Given the description of an element on the screen output the (x, y) to click on. 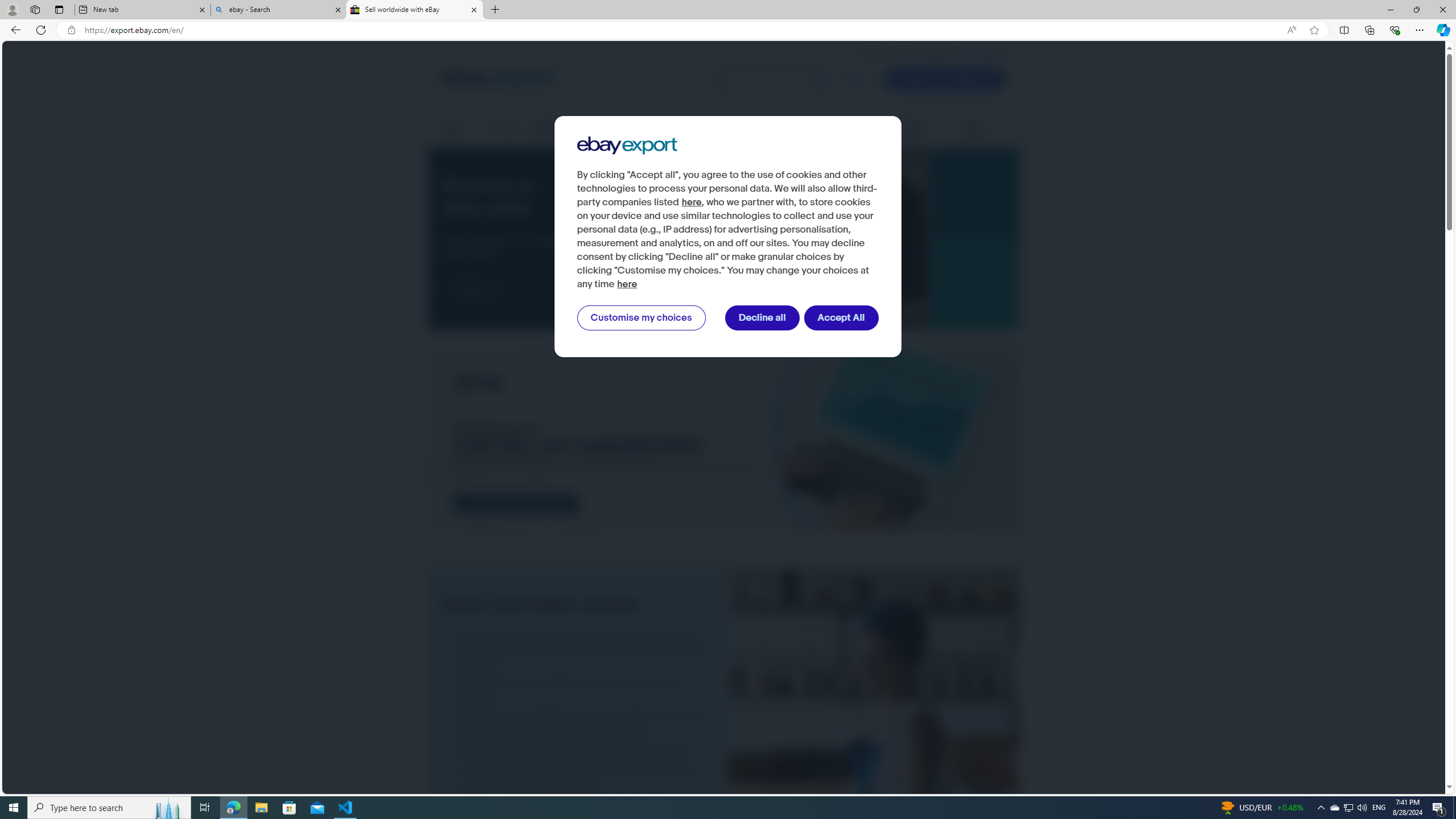
CBT Web Banner.jpeg (723, 439)
Class: search-input__btn (819, 79)
Class: search-input__icon (819, 79)
Say hello to the new desktop messaging experience (578, 751)
Fees, taxes & payments (714, 128)
New Tab (495, 9)
IN (967, 53)
Restore (1416, 9)
Minimize (1390, 9)
Add this page to favorites (Ctrl+D) (1314, 29)
Ebay Export (626, 145)
Manage listings (558, 128)
Become an eBay seller (756, 239)
Venmo is now accepted on eBay (578, 787)
